Given the description of an element on the screen output the (x, y) to click on. 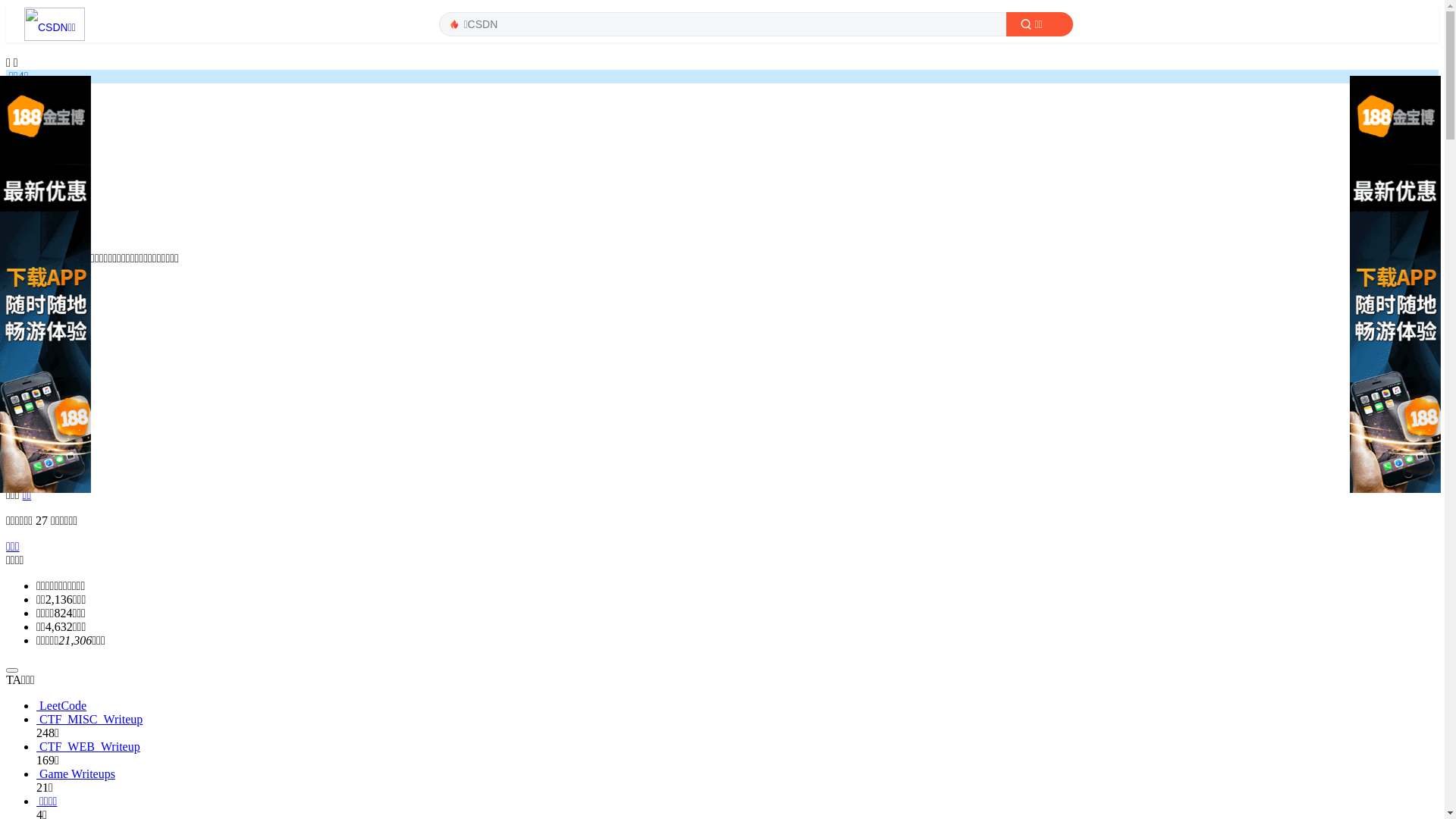
LeetCode Element type: text (737, 705)
CTF_WEB_Writeup Element type: text (737, 746)
Game Writeups Element type: text (737, 773)
CTF_MISC_Writeup Element type: text (737, 718)
